Given the description of an element on the screen output the (x, y) to click on. 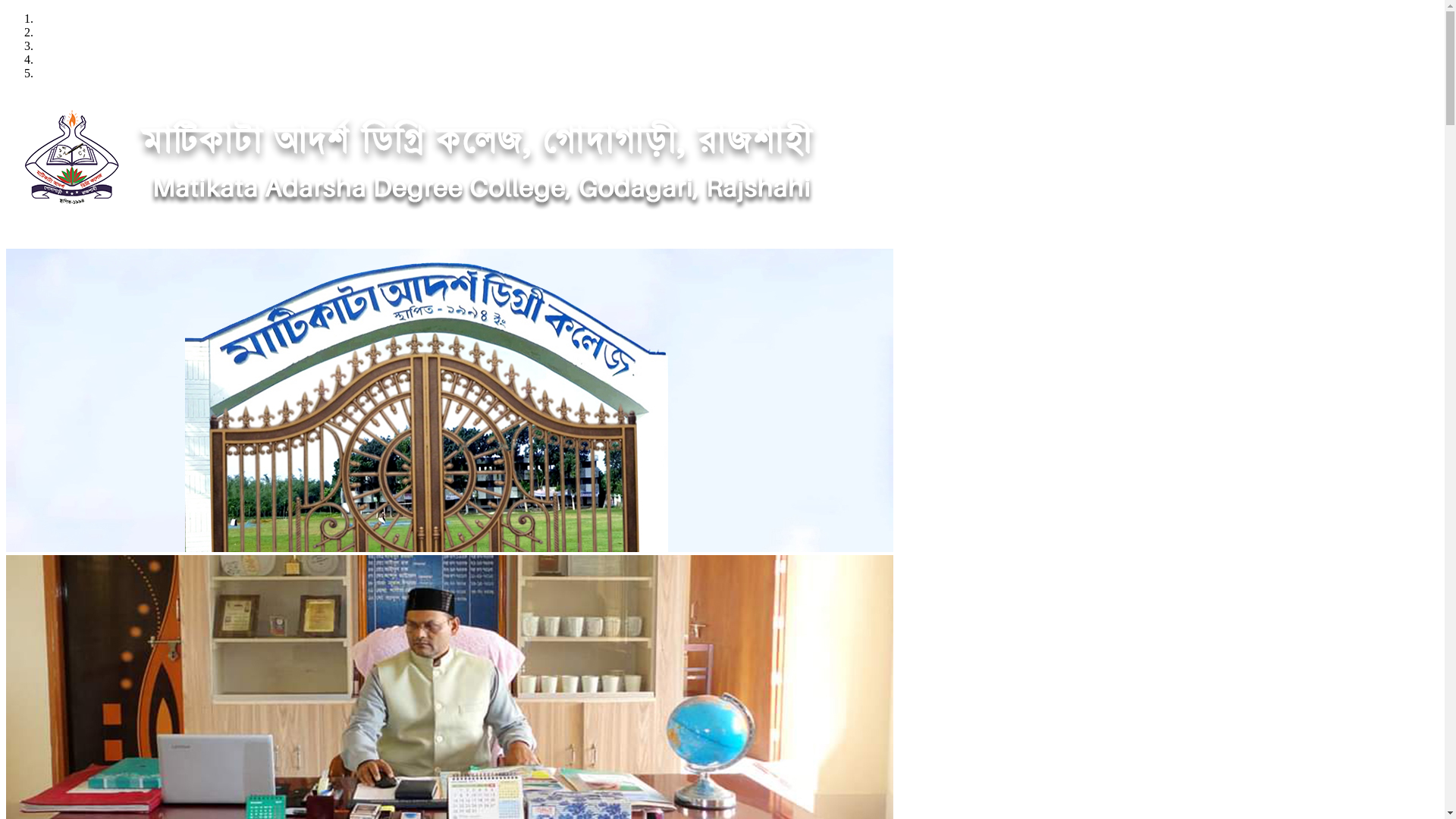
Skip to content Element type: text (5, 11)
